Given the description of an element on the screen output the (x, y) to click on. 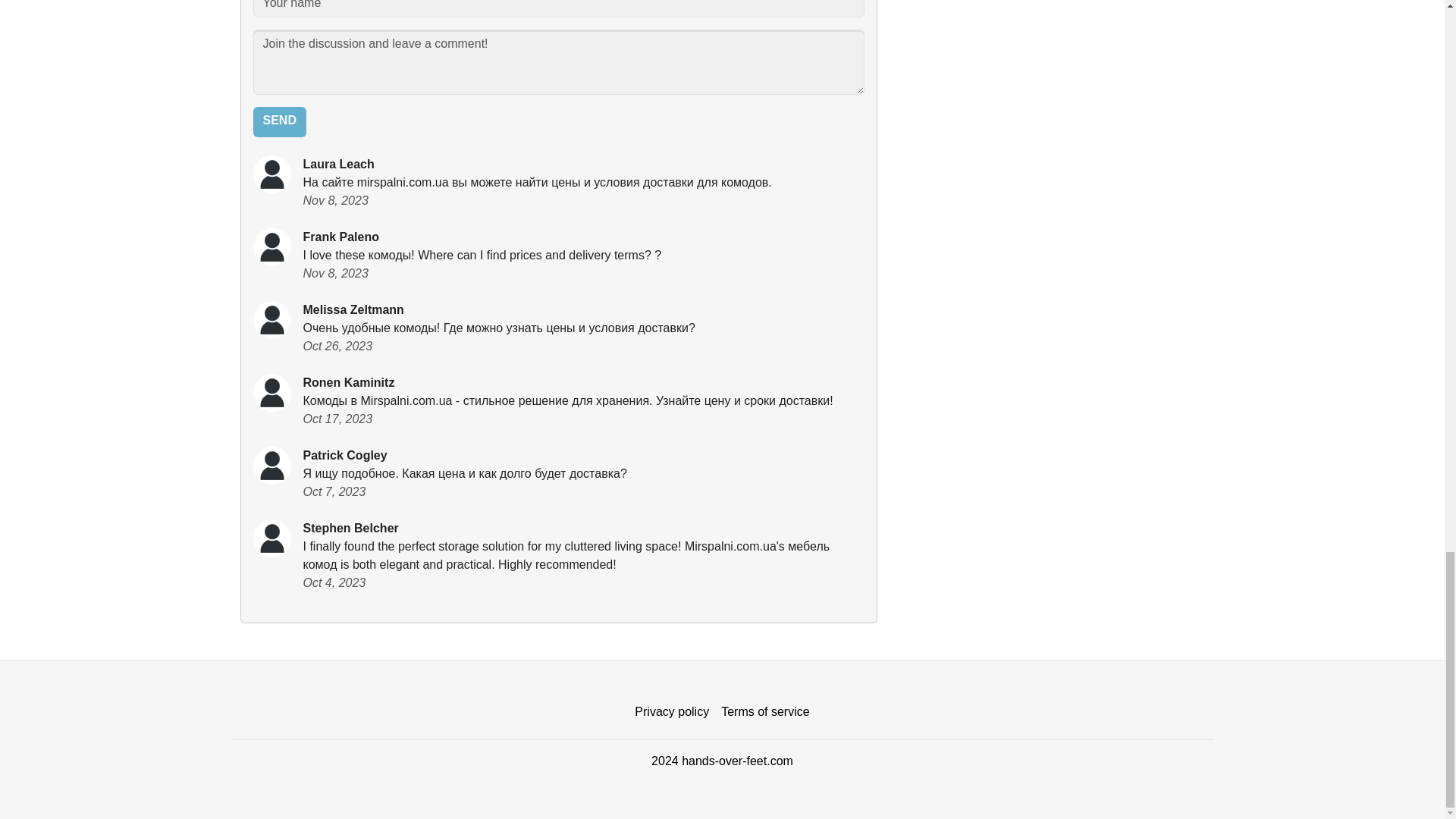
Terms of service (764, 711)
Send (279, 122)
Send (279, 122)
Privacy policy (671, 711)
